Given the description of an element on the screen output the (x, y) to click on. 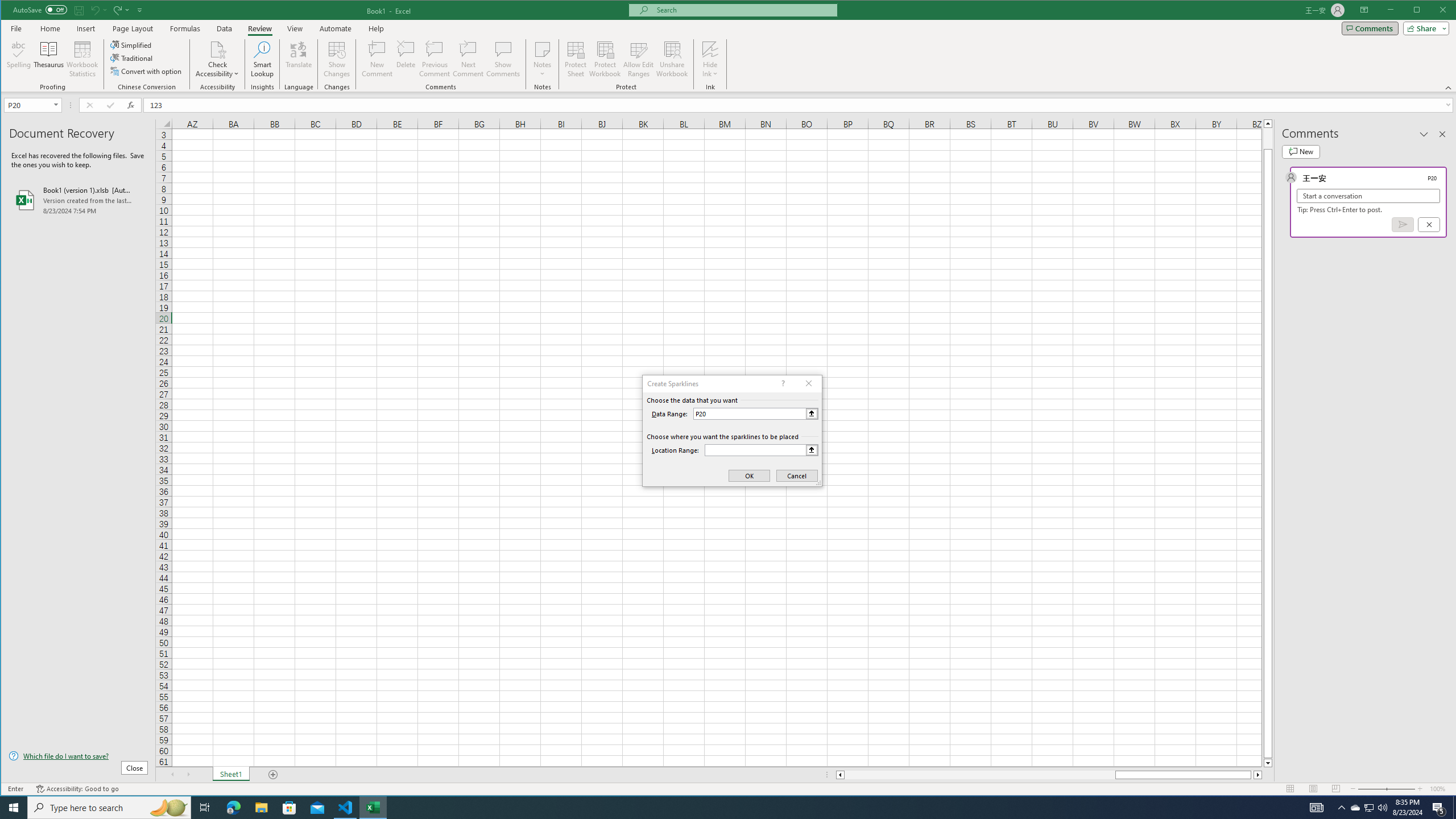
New comment (1300, 151)
Workbook Statistics (82, 59)
Show Comments (502, 59)
